Given the description of an element on the screen output the (x, y) to click on. 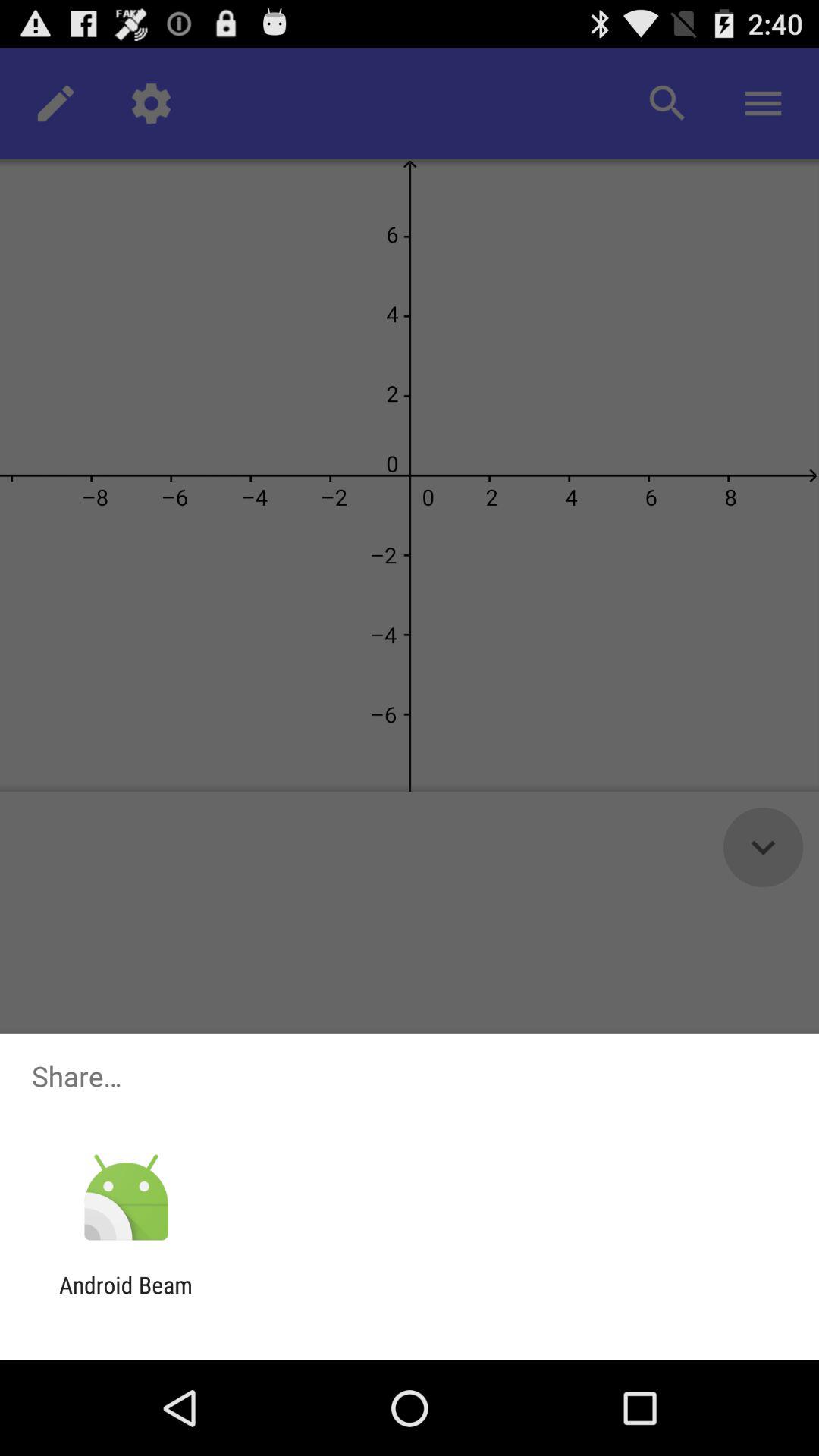
scroll to the android beam item (125, 1298)
